Given the description of an element on the screen output the (x, y) to click on. 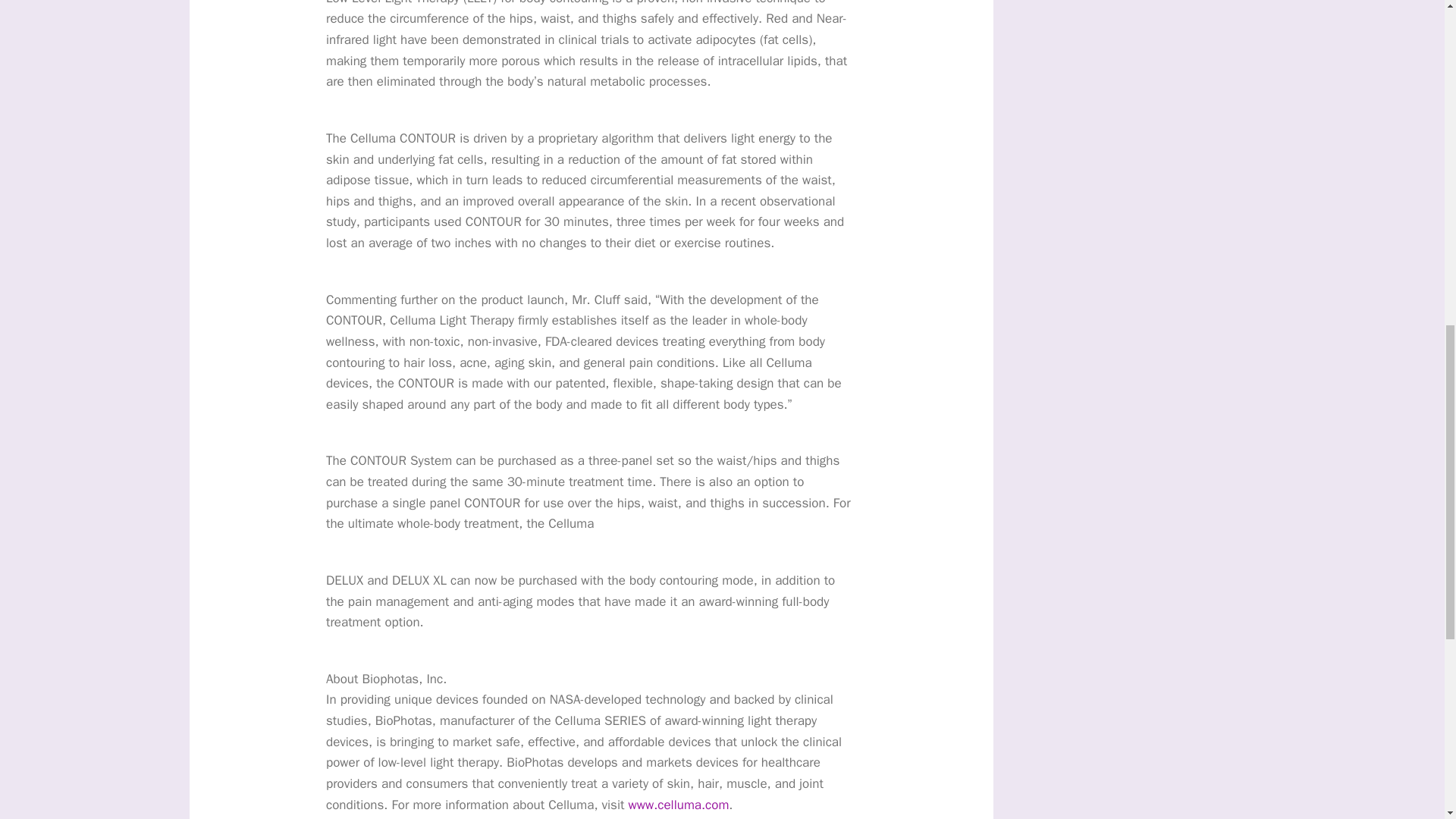
www.celluma.com (678, 804)
